Given the description of an element on the screen output the (x, y) to click on. 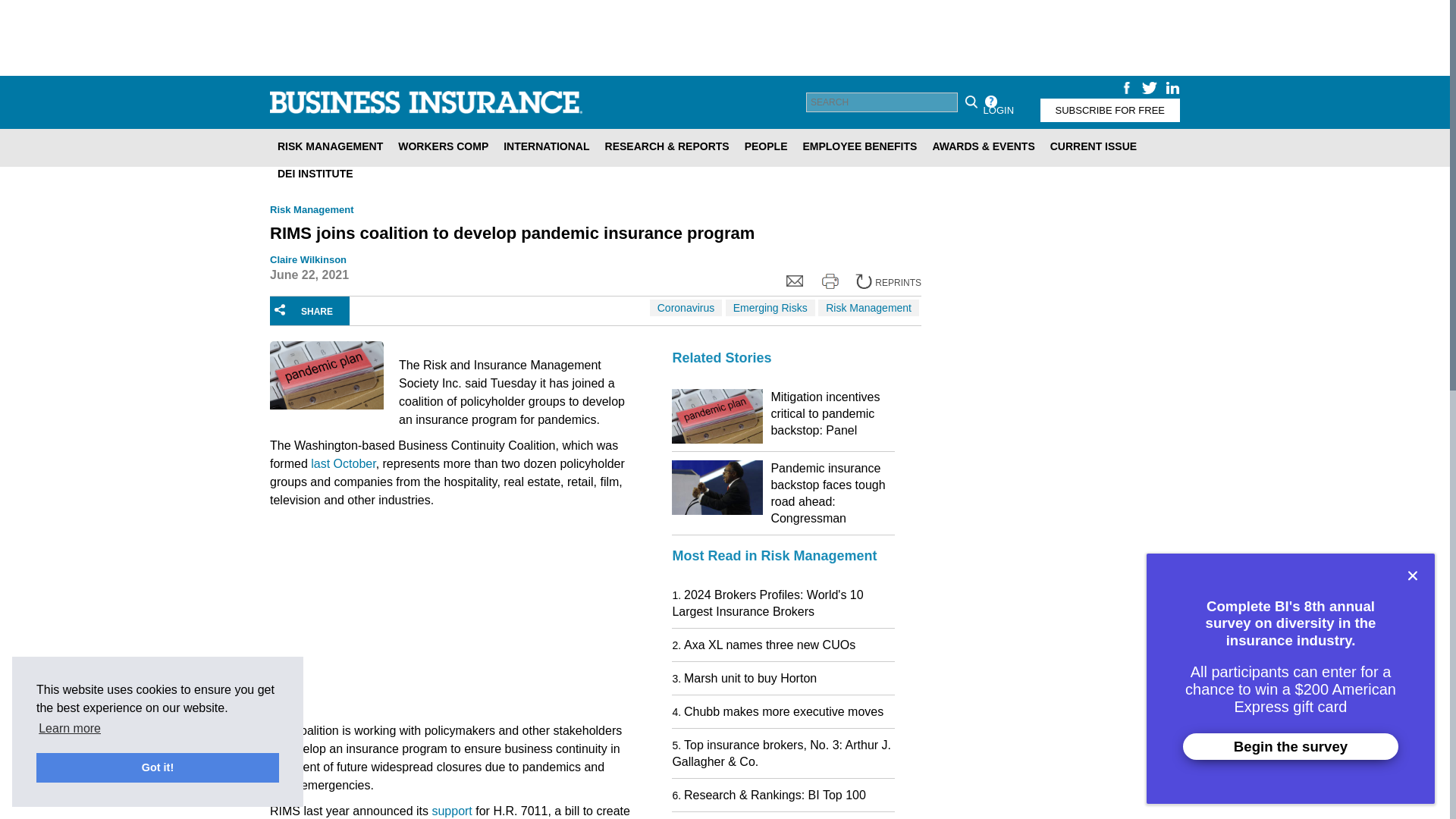
3rd party ad content (1057, 475)
3rd party ad content (724, 38)
INTERNATIONAL (546, 145)
LOGIN (998, 110)
3rd party ad content (1057, 768)
3rd party ad content (383, 619)
Learn more (69, 728)
SUBSCRIBE FOR FREE (1110, 110)
RISK MANAGEMENT (329, 145)
Got it! (157, 767)
Help (990, 101)
WORKERS COMP (443, 145)
